Given the description of an element on the screen output the (x, y) to click on. 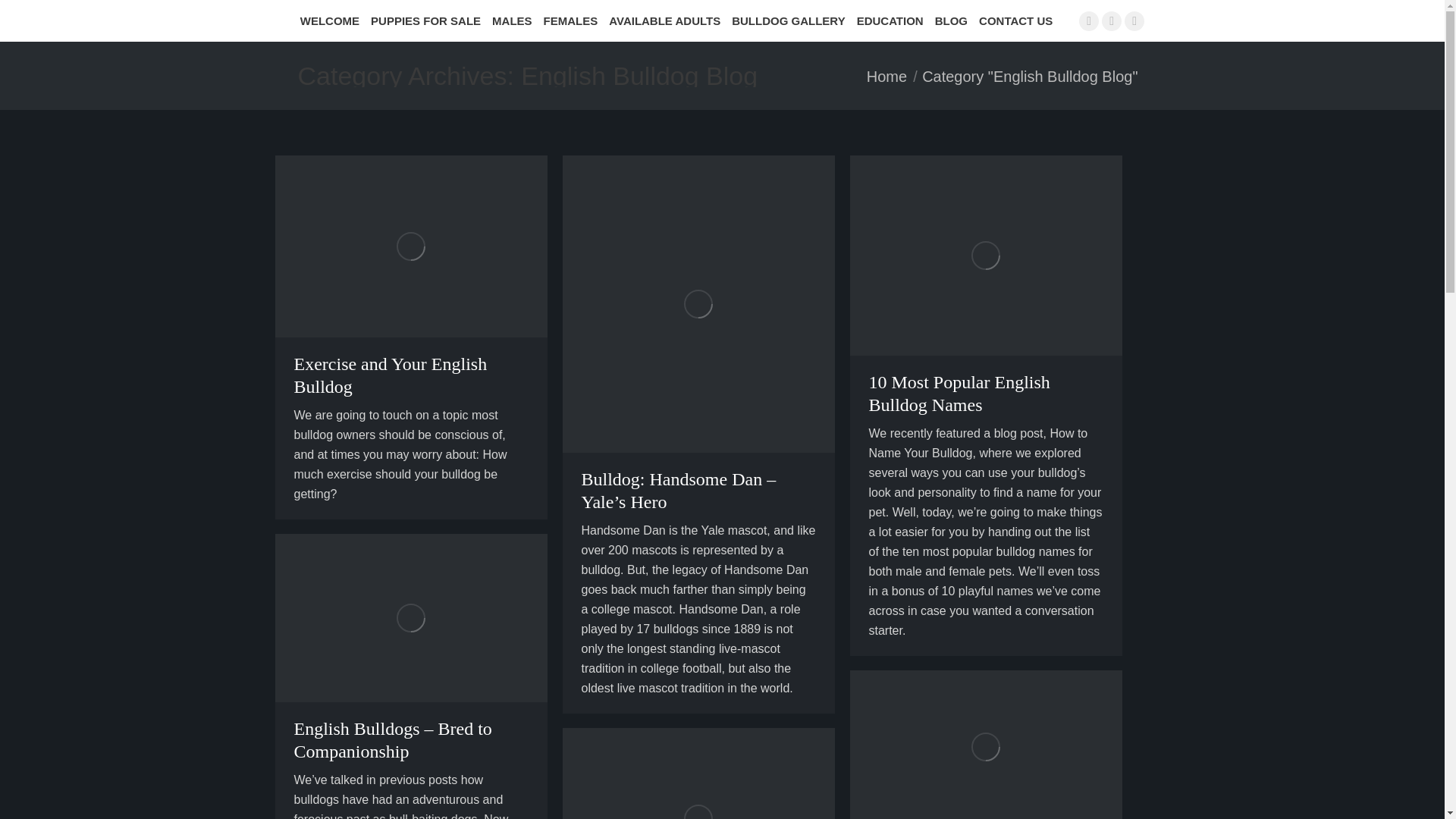
Instagram page opens in new window (1111, 20)
PUPPIES FOR SALE (427, 20)
MALES (513, 20)
Facebook page opens in new window (1088, 20)
WELCOME (330, 20)
Home (886, 76)
BLOG (952, 20)
FEMALES (572, 20)
EDUCATION (892, 20)
Instagram page opens in new window (1111, 20)
Facebook page opens in new window (1088, 20)
BULLDOG GALLERY (790, 20)
Exercise and Your English Bulldog (390, 374)
AVAILABLE ADULTS (665, 20)
YouTube page opens in new window (1134, 20)
